Given the description of an element on the screen output the (x, y) to click on. 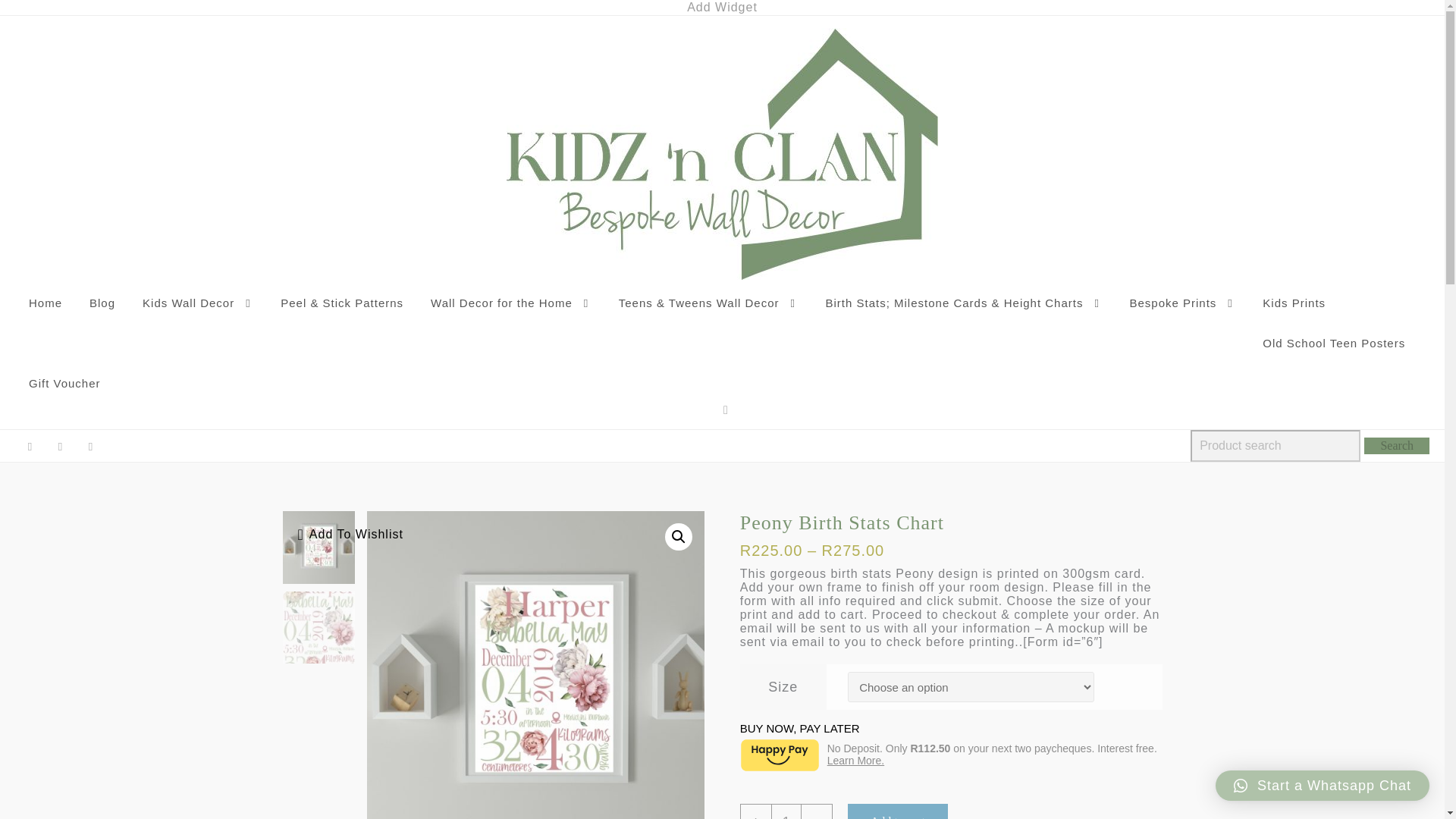
Kids Wall Decor (197, 302)
Home (44, 302)
Blog (102, 302)
Wall Decor for the Home (510, 302)
1 (786, 811)
Search (1396, 445)
Add Widget (722, 6)
Peony Birth Stats (544, 665)
